Given the description of an element on the screen output the (x, y) to click on. 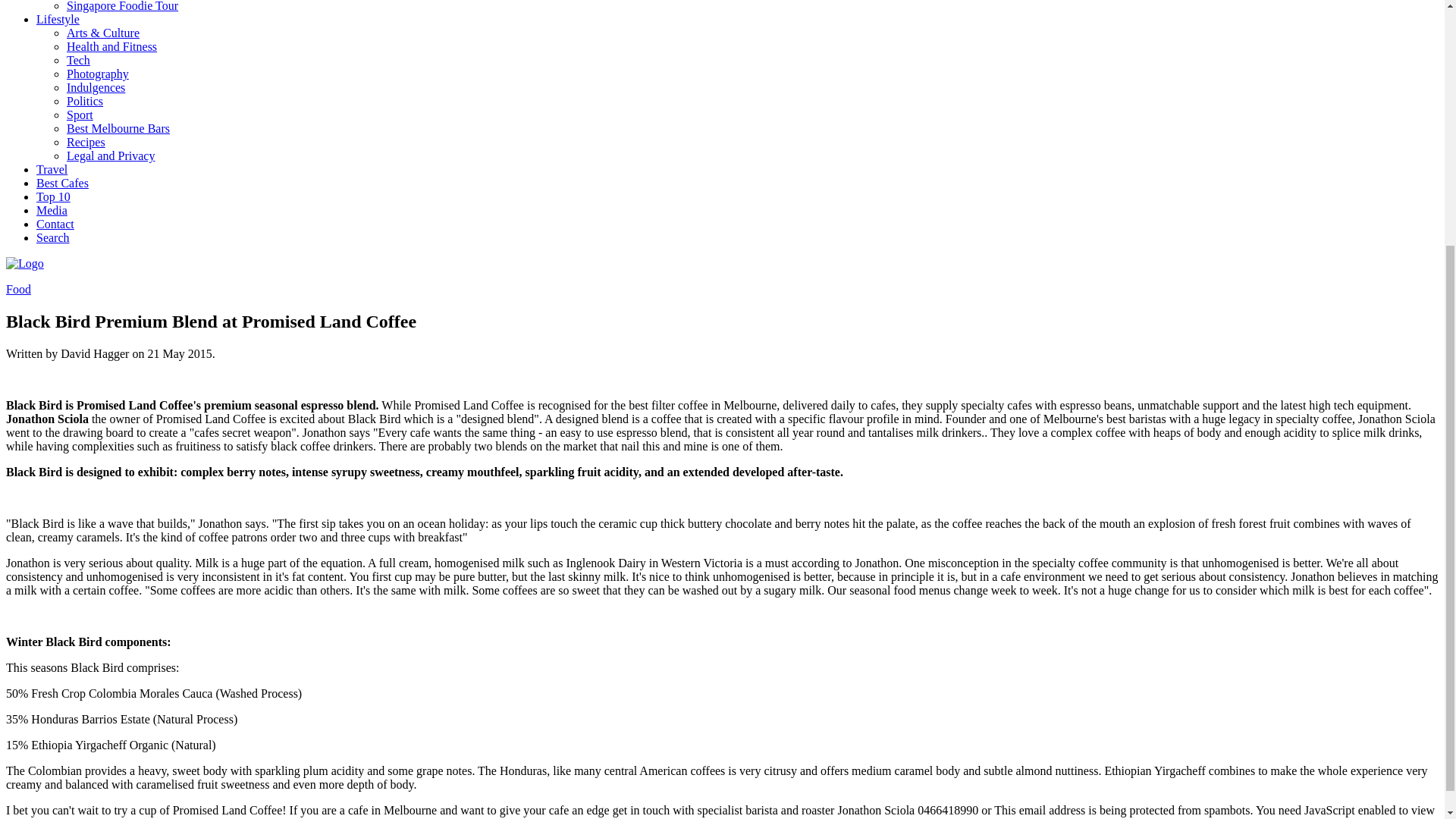
Recipes (85, 141)
Indulgences (95, 87)
Singapore Foodie Tour (121, 6)
Lifestyle (58, 19)
Best Cafes (62, 182)
Photography (97, 73)
Legal and Privacy (110, 155)
Best Melbourne Bars (118, 128)
Sport (79, 114)
Top 10 (52, 196)
